Given the description of an element on the screen output the (x, y) to click on. 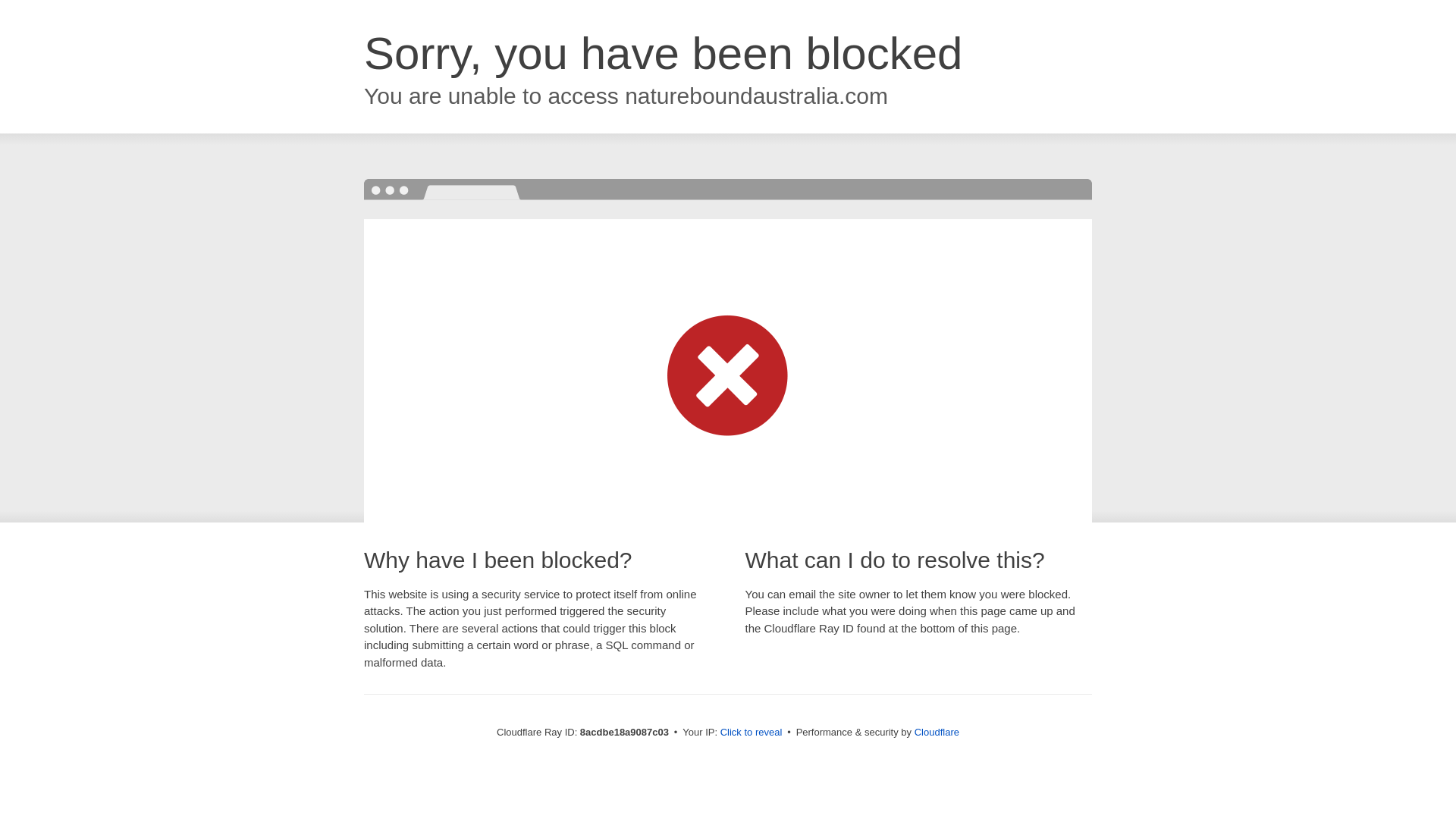
Click to reveal (751, 732)
Cloudflare (936, 731)
